Given the description of an element on the screen output the (x, y) to click on. 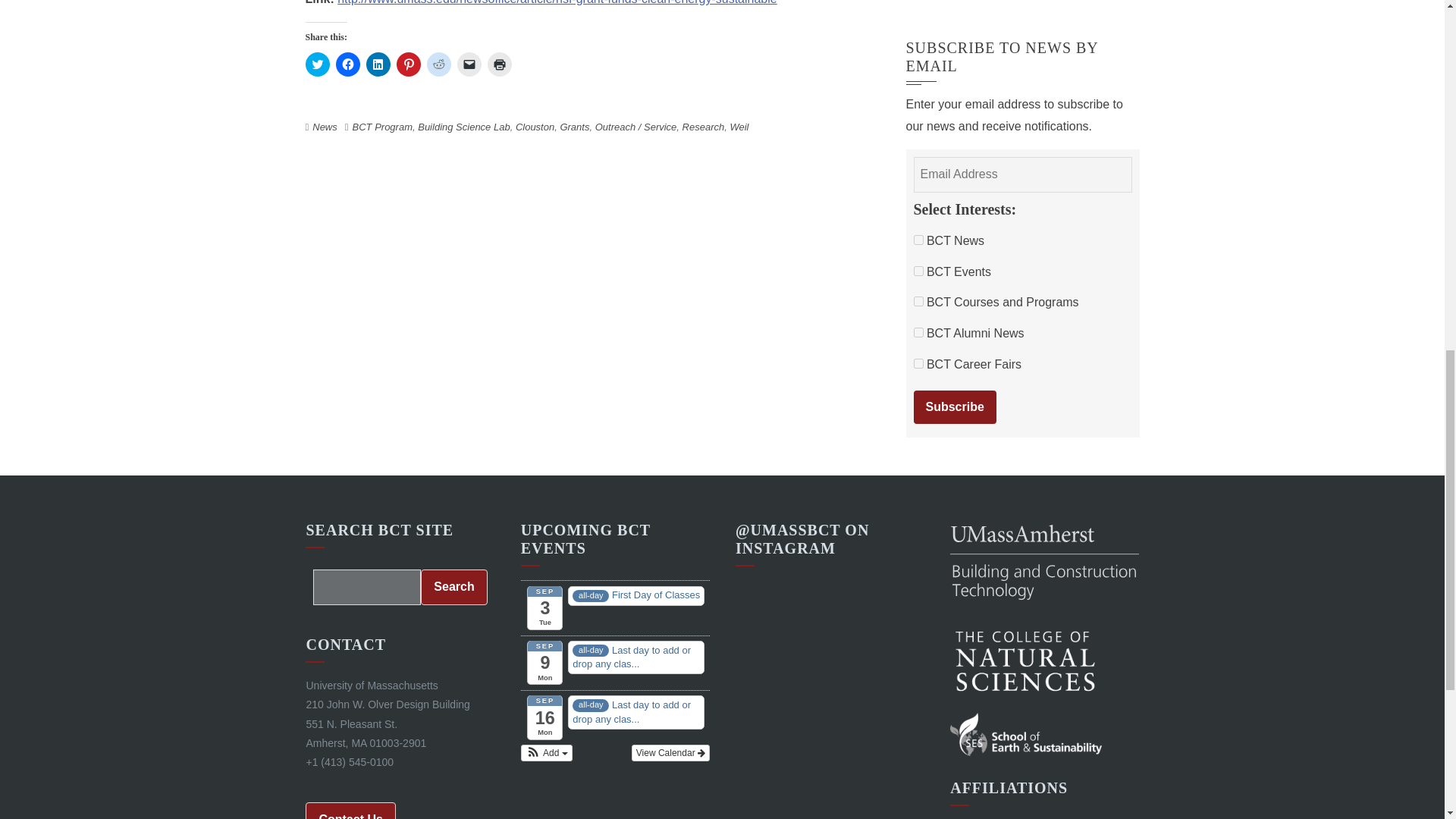
1 (917, 239)
Click to print (498, 64)
Click to share on Reddit (437, 64)
8 (917, 363)
Click to share on Pinterest (408, 64)
Click to share on Facebook (346, 64)
16 (917, 301)
Subscribe (953, 407)
4 (917, 271)
Search (453, 587)
Click to share on LinkedIn (377, 64)
Click to email a link to a friend (468, 64)
Click to share on Twitter (316, 64)
2 (917, 332)
